Given the description of an element on the screen output the (x, y) to click on. 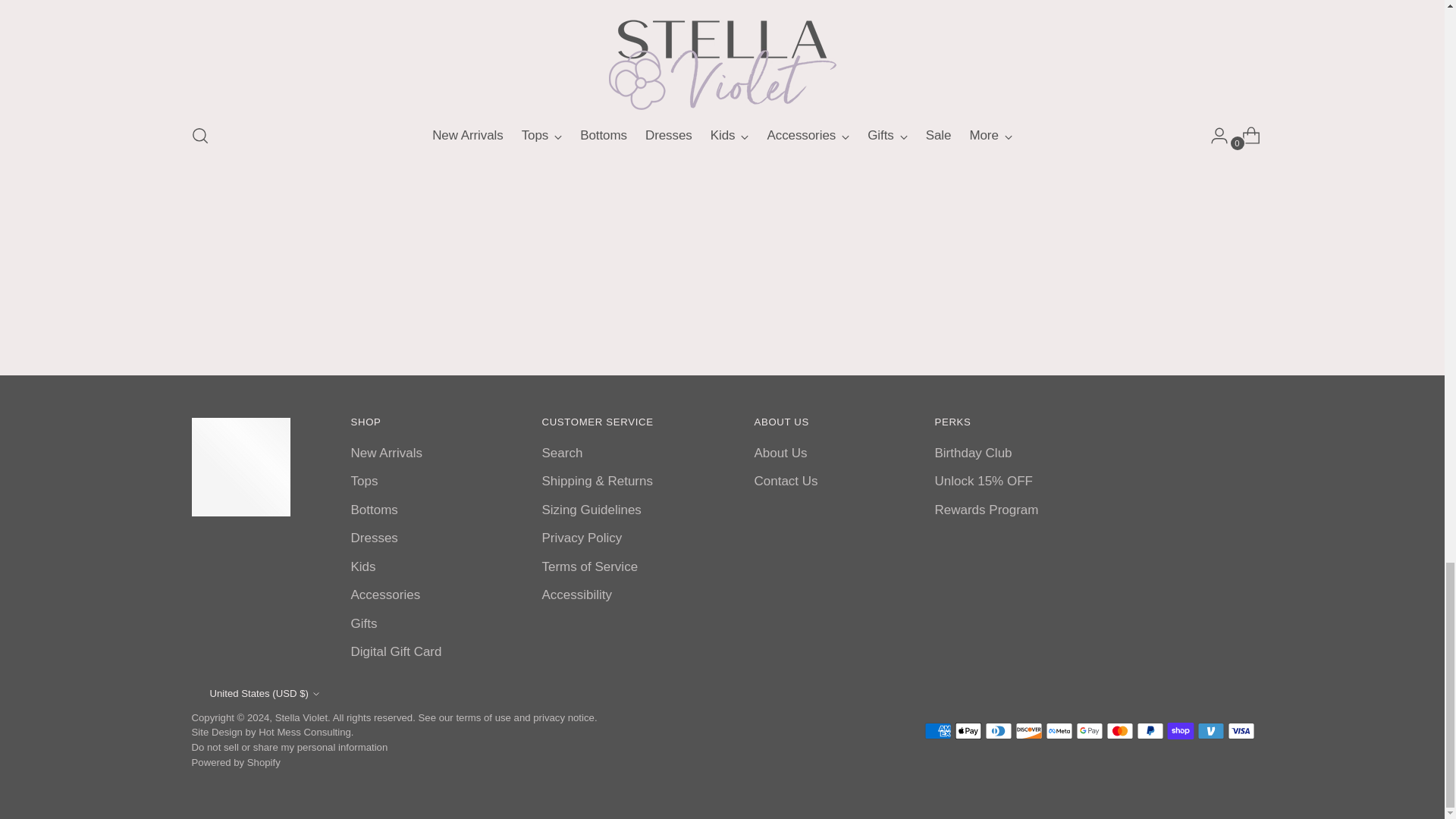
Do not sell or share my personal information (288, 747)
